Given the description of an element on the screen output the (x, y) to click on. 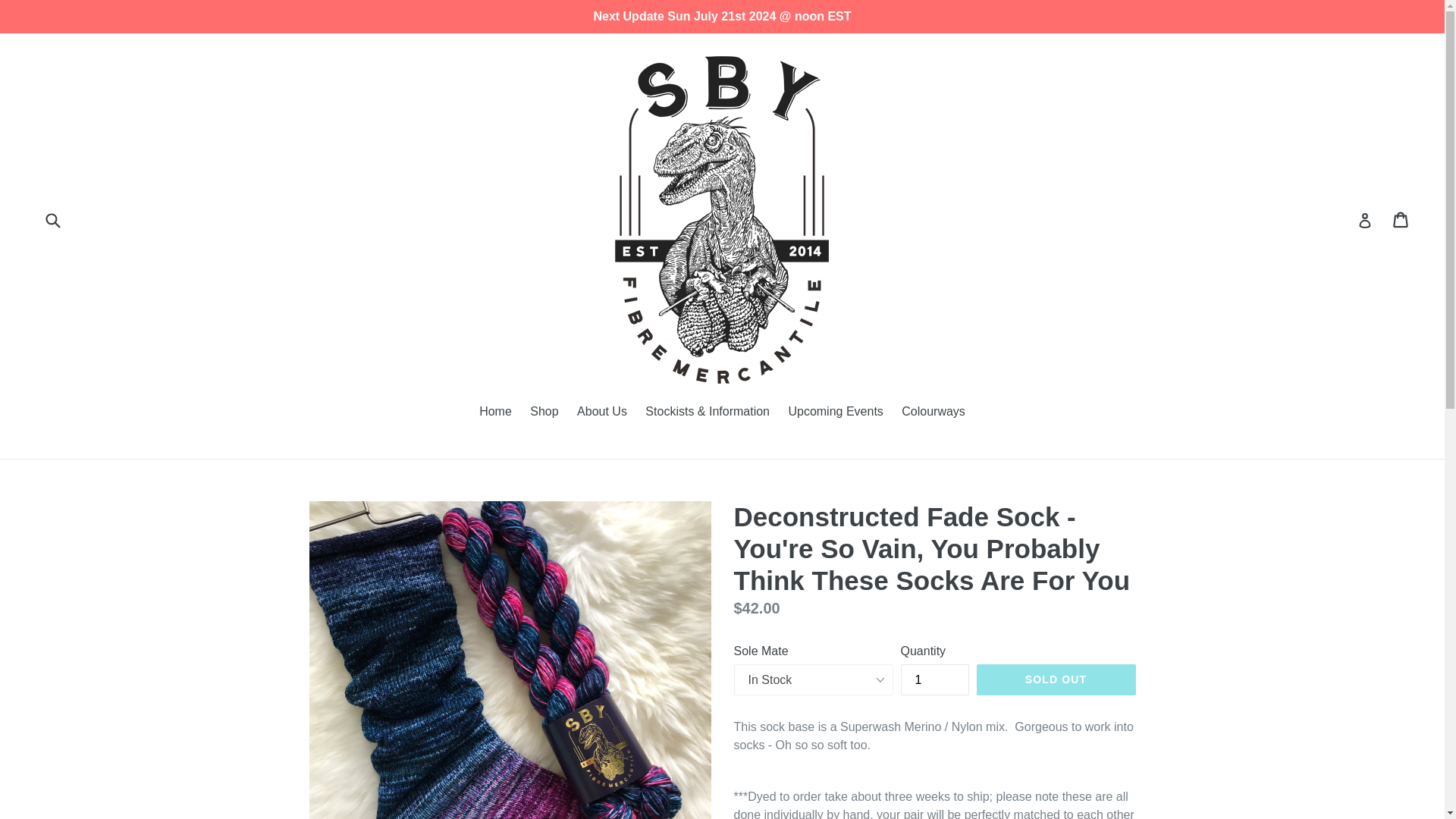
About Us (601, 412)
SOLD OUT (1055, 680)
Colourways (932, 412)
1 (935, 679)
Home (495, 412)
Upcoming Events (834, 412)
Shop (544, 412)
